Given the description of an element on the screen output the (x, y) to click on. 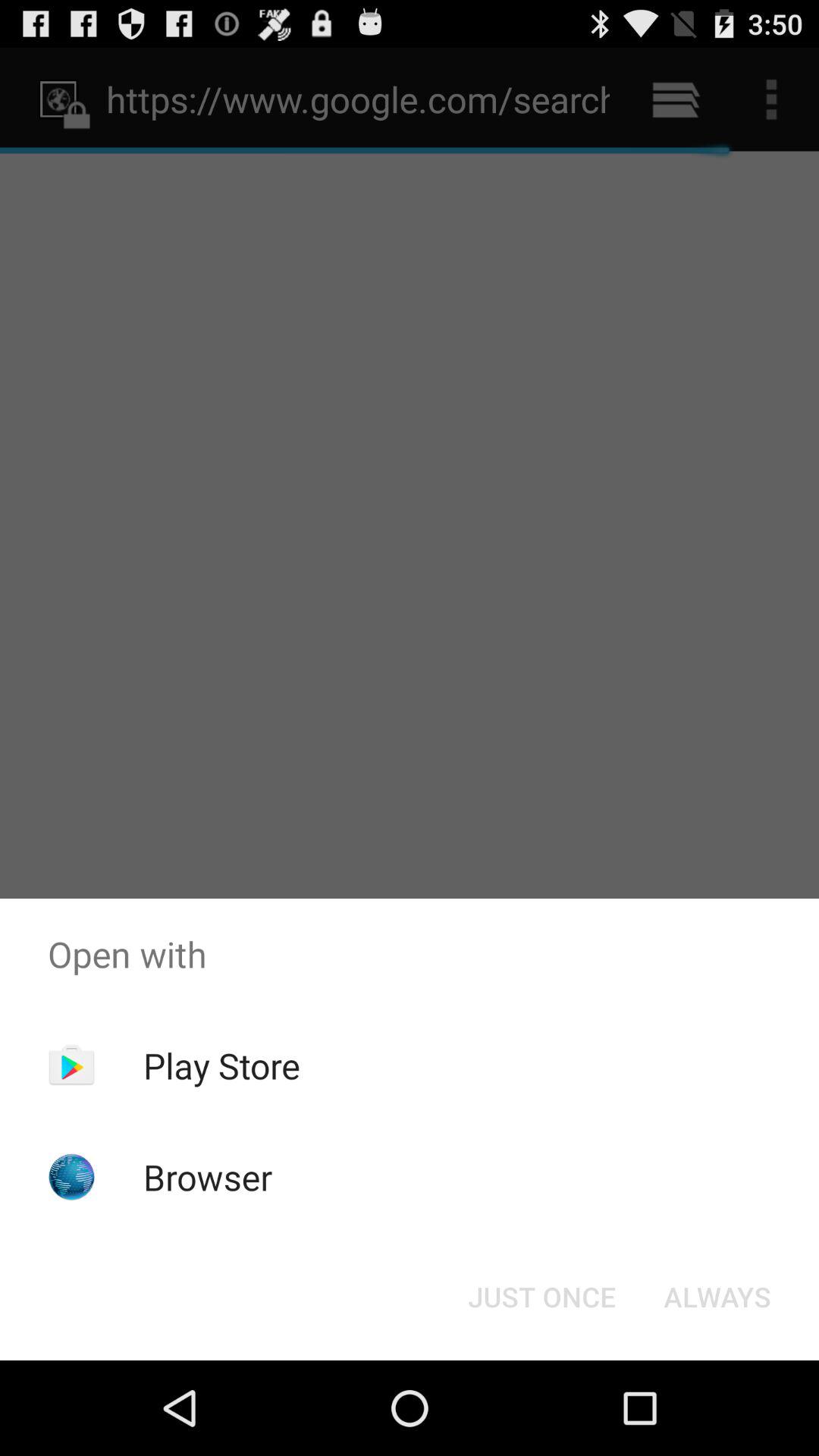
turn on the item below the open with item (541, 1296)
